Given the description of an element on the screen output the (x, y) to click on. 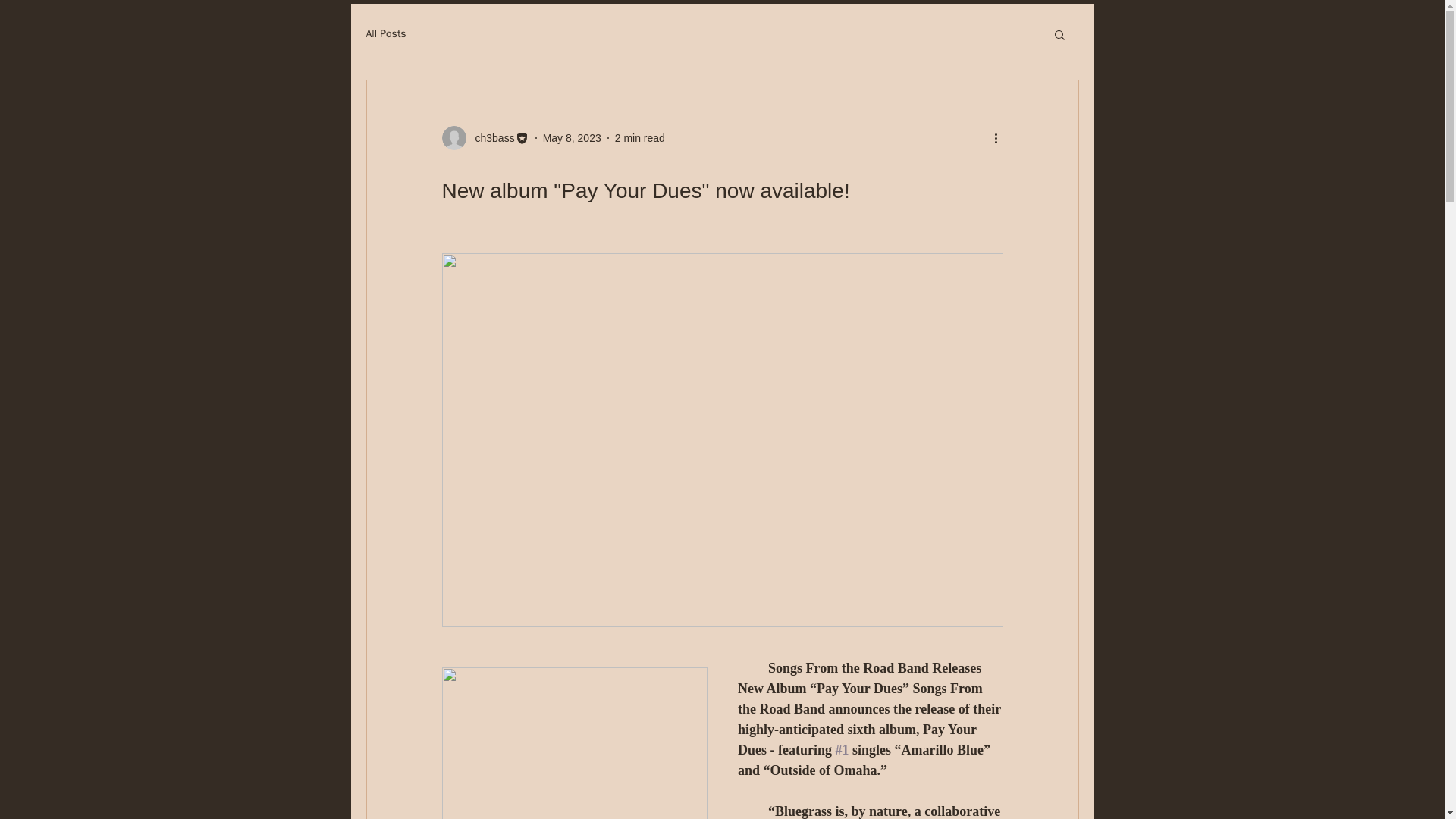
ch3bass (489, 138)
All Posts (385, 33)
ch3bass (484, 137)
2 min read (639, 137)
May 8, 2023 (572, 137)
